Given the description of an element on the screen output the (x, y) to click on. 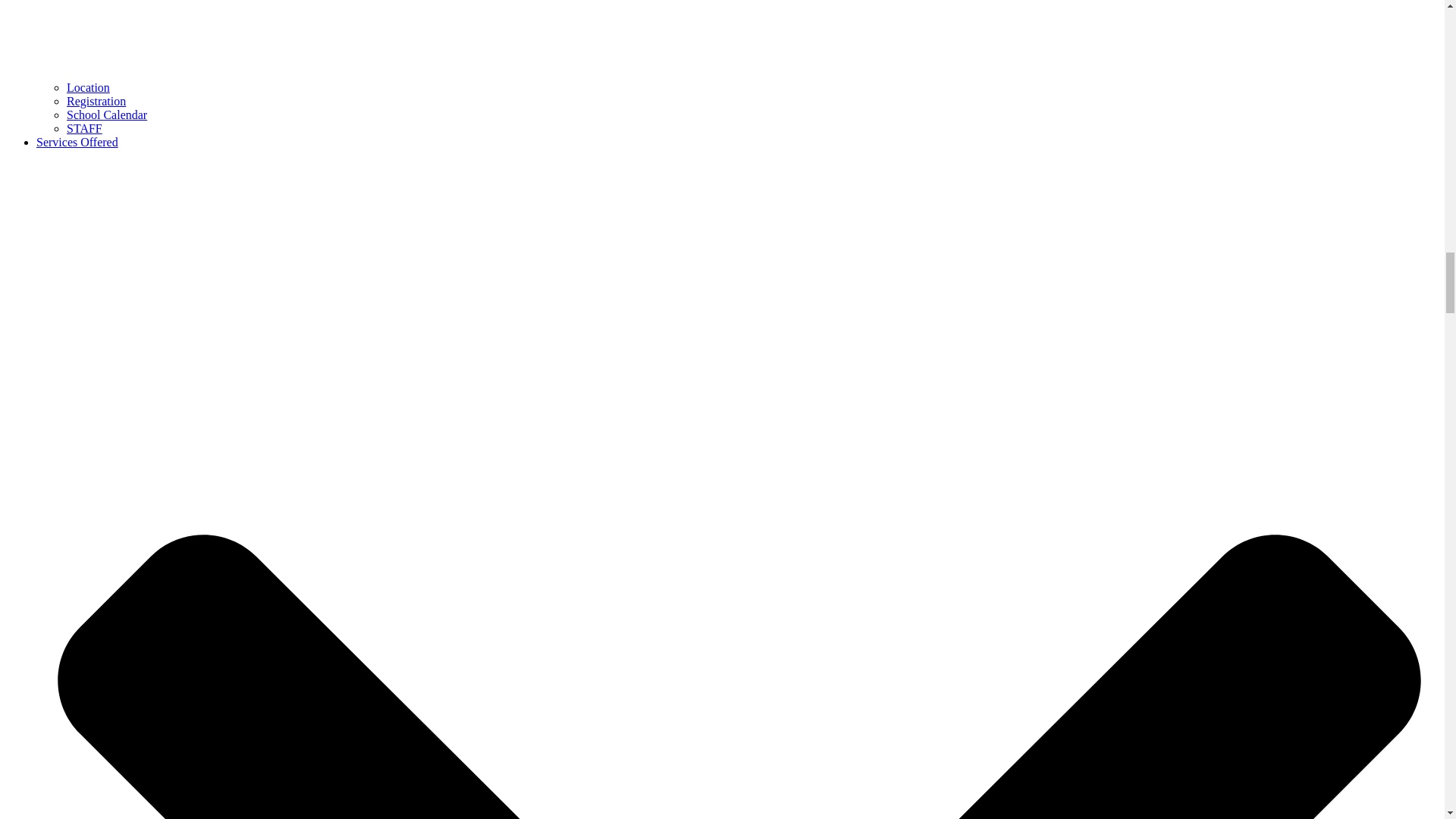
STAFF (83, 128)
Location (88, 87)
Registration (95, 101)
School Calendar (106, 114)
